Given the description of an element on the screen output the (x, y) to click on. 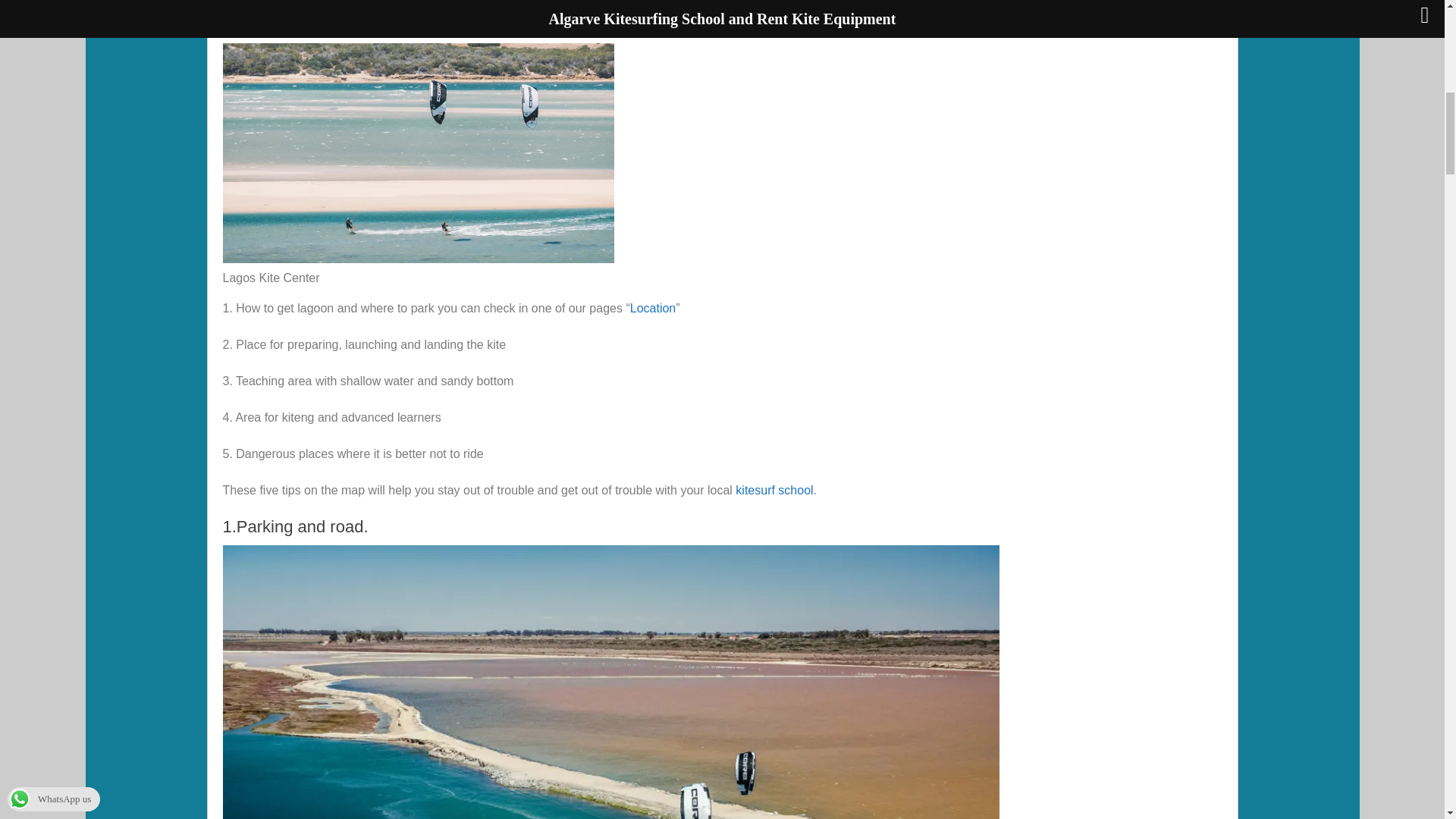
kitesurf school (773, 490)
Location (653, 308)
